Given the description of an element on the screen output the (x, y) to click on. 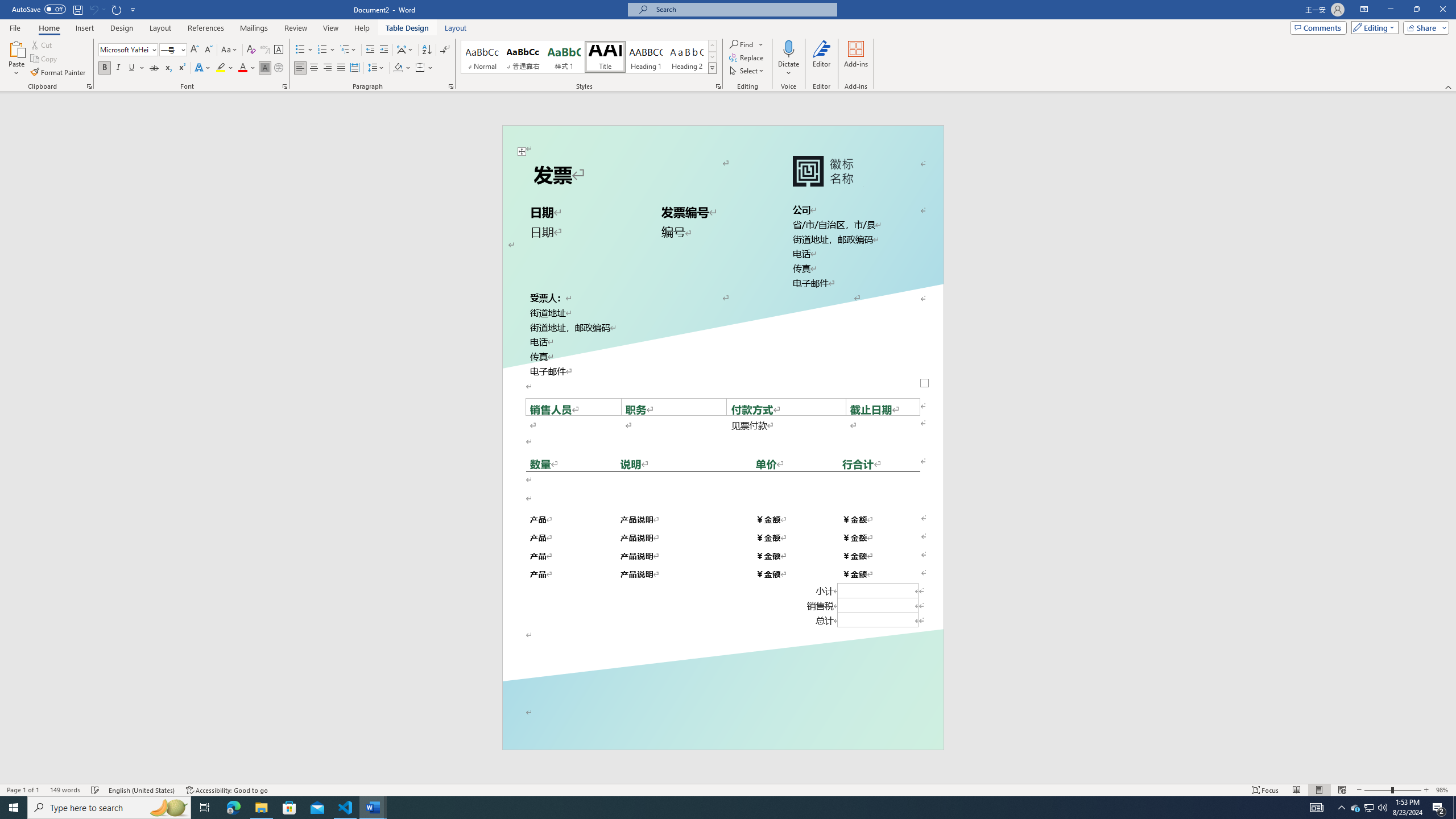
Page 1 content (722, 425)
